Given the description of an element on the screen output the (x, y) to click on. 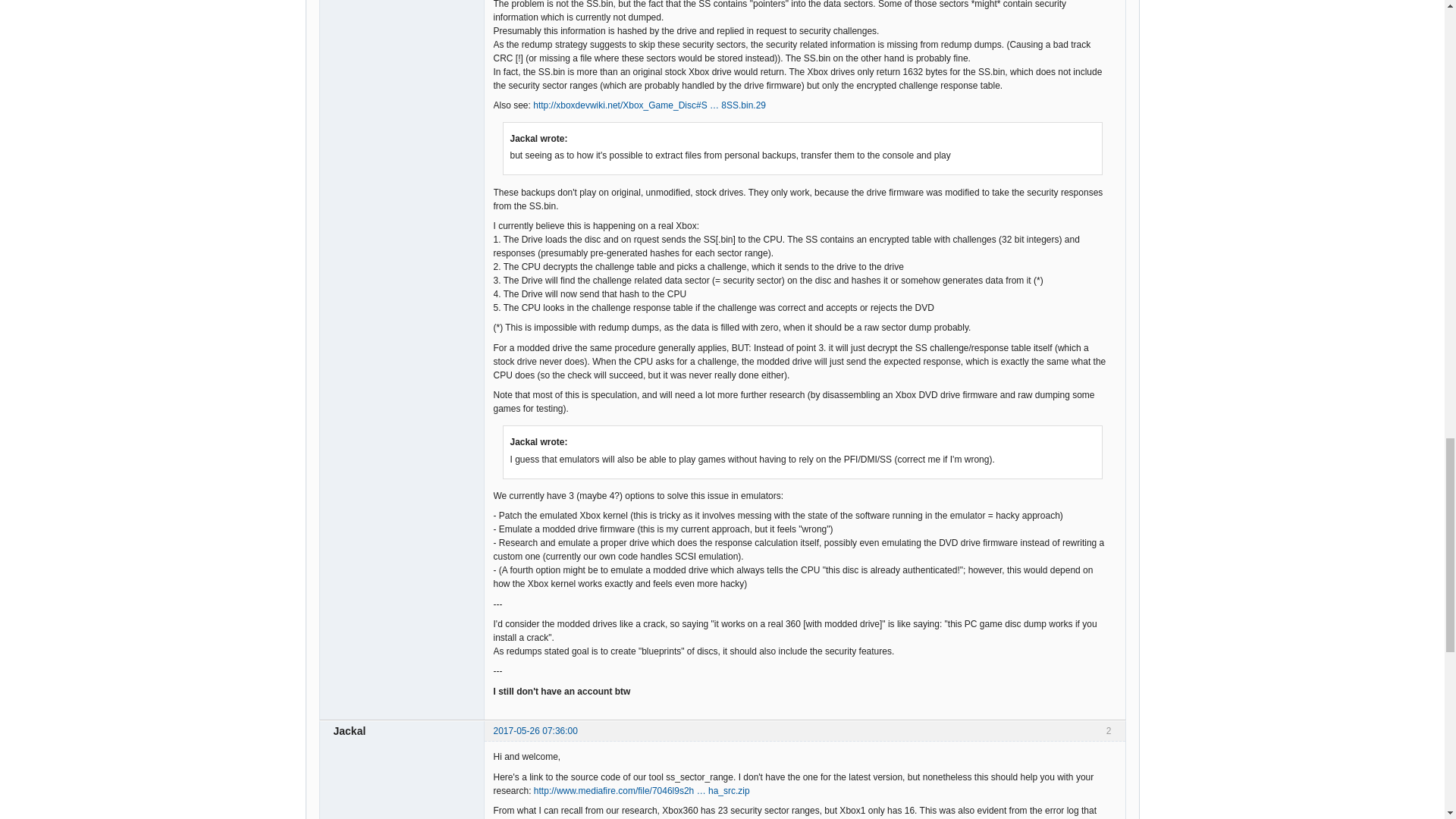
2017-05-26 07:36:00 (534, 730)
